Given the description of an element on the screen output the (x, y) to click on. 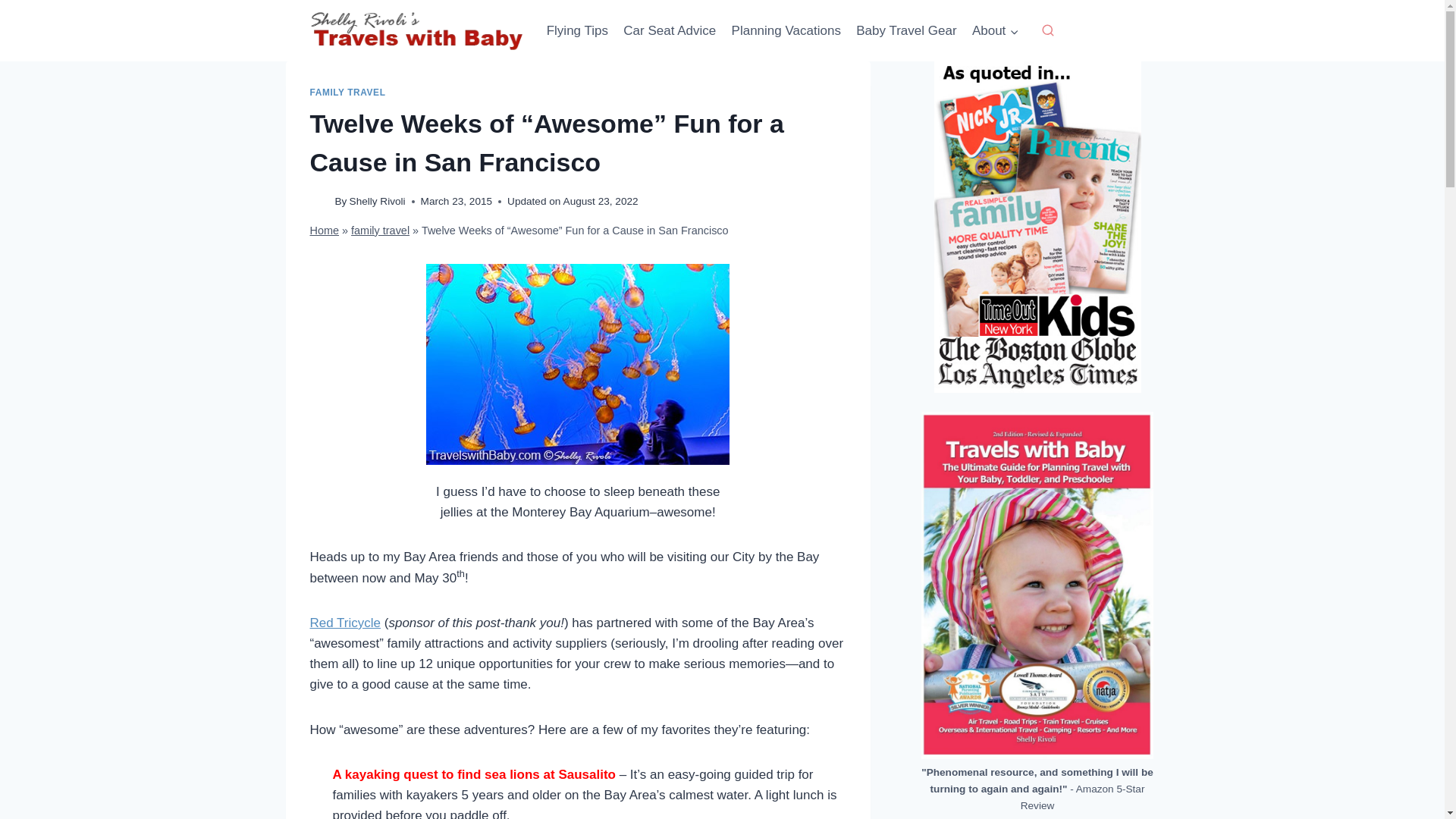
About (994, 31)
Red Tricycle (344, 622)
family travel (379, 230)
Flying Tips (576, 31)
Baby Travel Gear (905, 31)
Shelly Rivoli (377, 201)
FAMILY TRAVEL (346, 91)
Planning Vacations (785, 31)
Home (323, 230)
Red Tricycle (344, 622)
Car Seat Advice (669, 31)
